Given the description of an element on the screen output the (x, y) to click on. 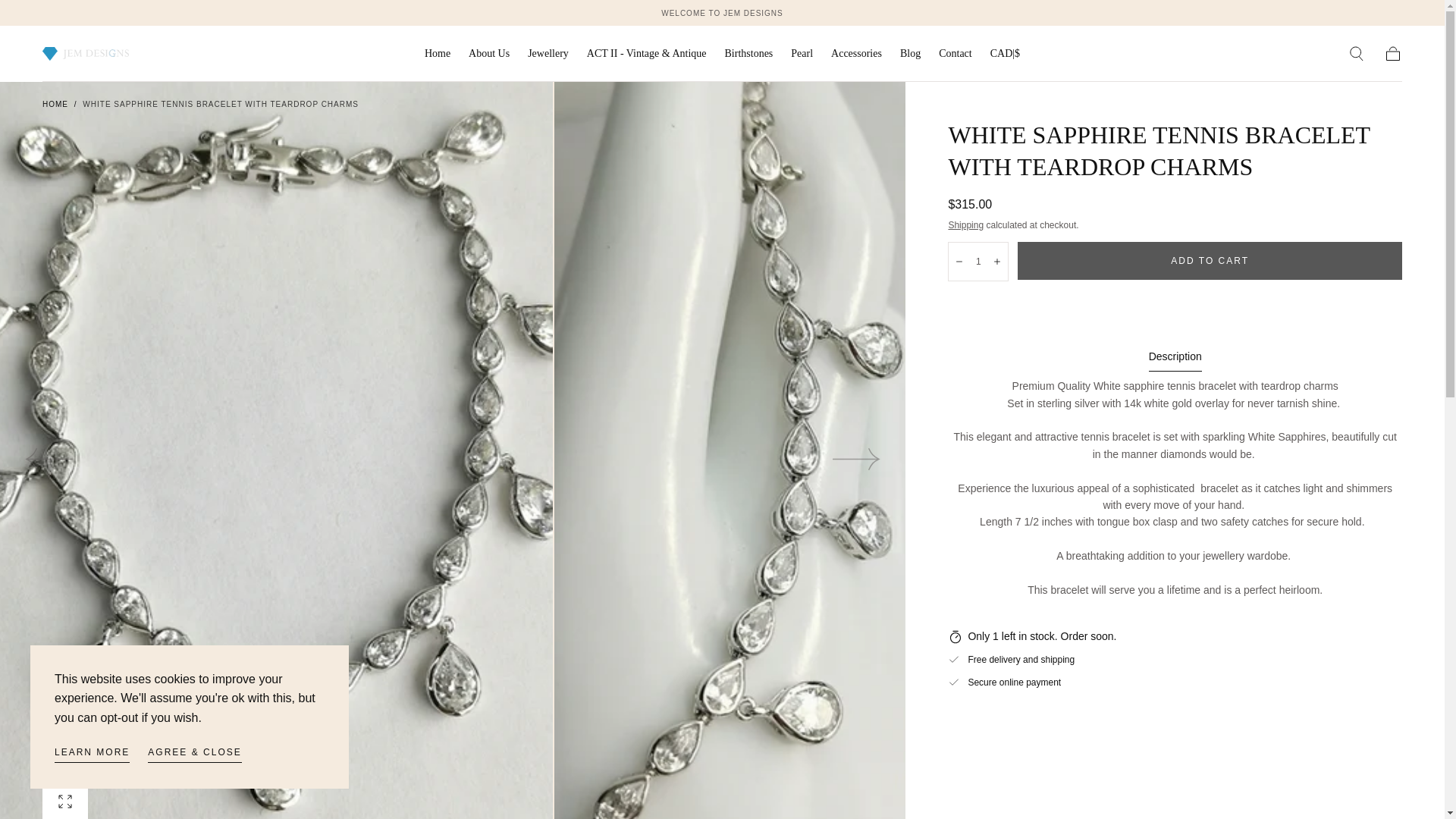
WELCOME TO JEM DESIGNS (722, 13)
LEARN MORE (92, 754)
SKIP TO CONTENT (67, 18)
Cart (1393, 54)
All products (722, 13)
